Given the description of an element on the screen output the (x, y) to click on. 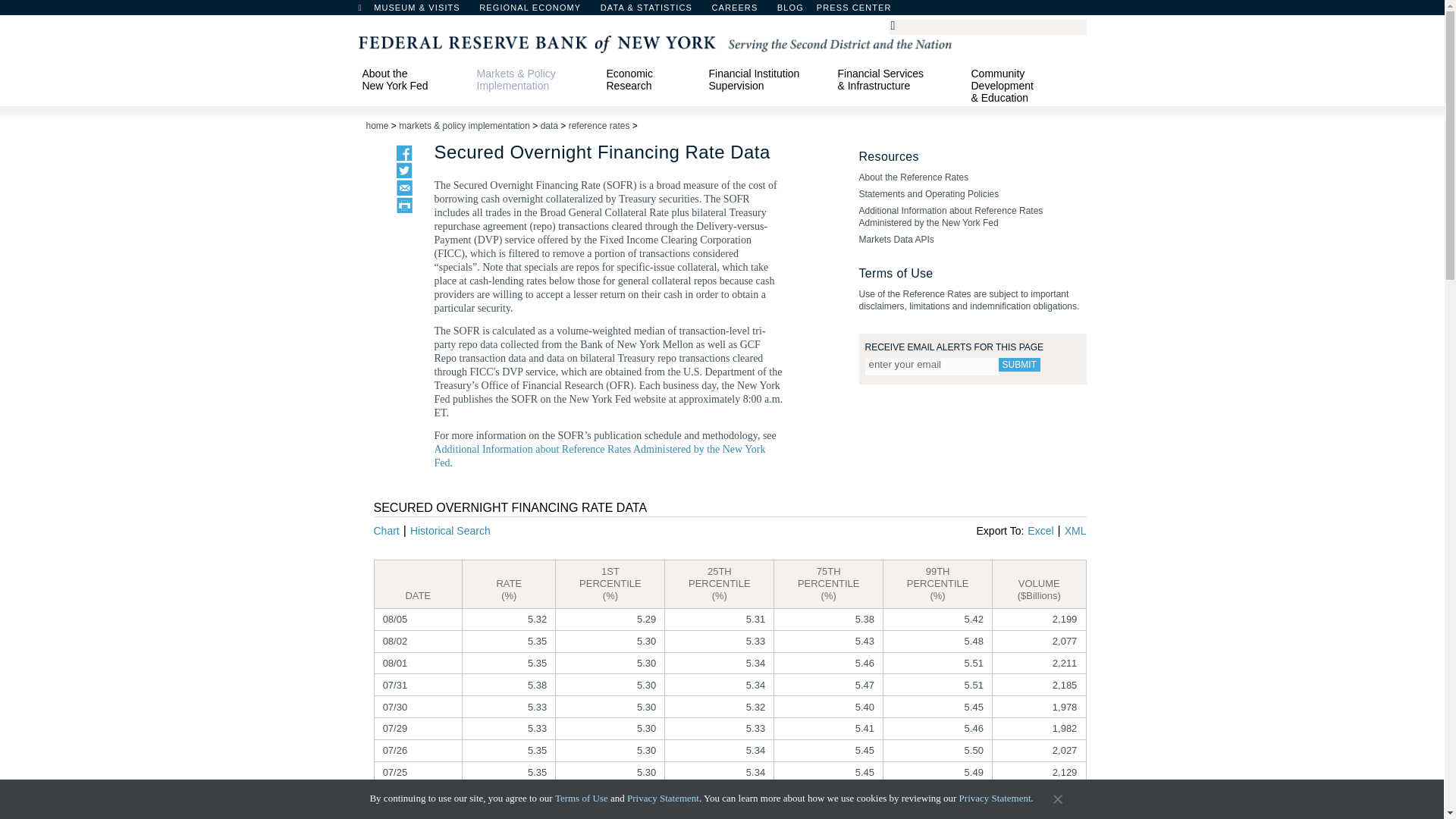
REGIONAL ECONOMY (537, 11)
About the New York Fed (411, 79)
About the New York Fed (411, 79)
Regional Economy (537, 11)
BLOG (830, 11)
Home (367, 11)
Federal Reserve Bank of New York (654, 42)
Liberty Street Economics Blog (830, 11)
Search Form (987, 27)
Submit (1018, 364)
Search Button (897, 24)
Press Center (861, 11)
Chart (385, 530)
PRESS CENTER (861, 11)
Careers (742, 11)
